Given the description of an element on the screen output the (x, y) to click on. 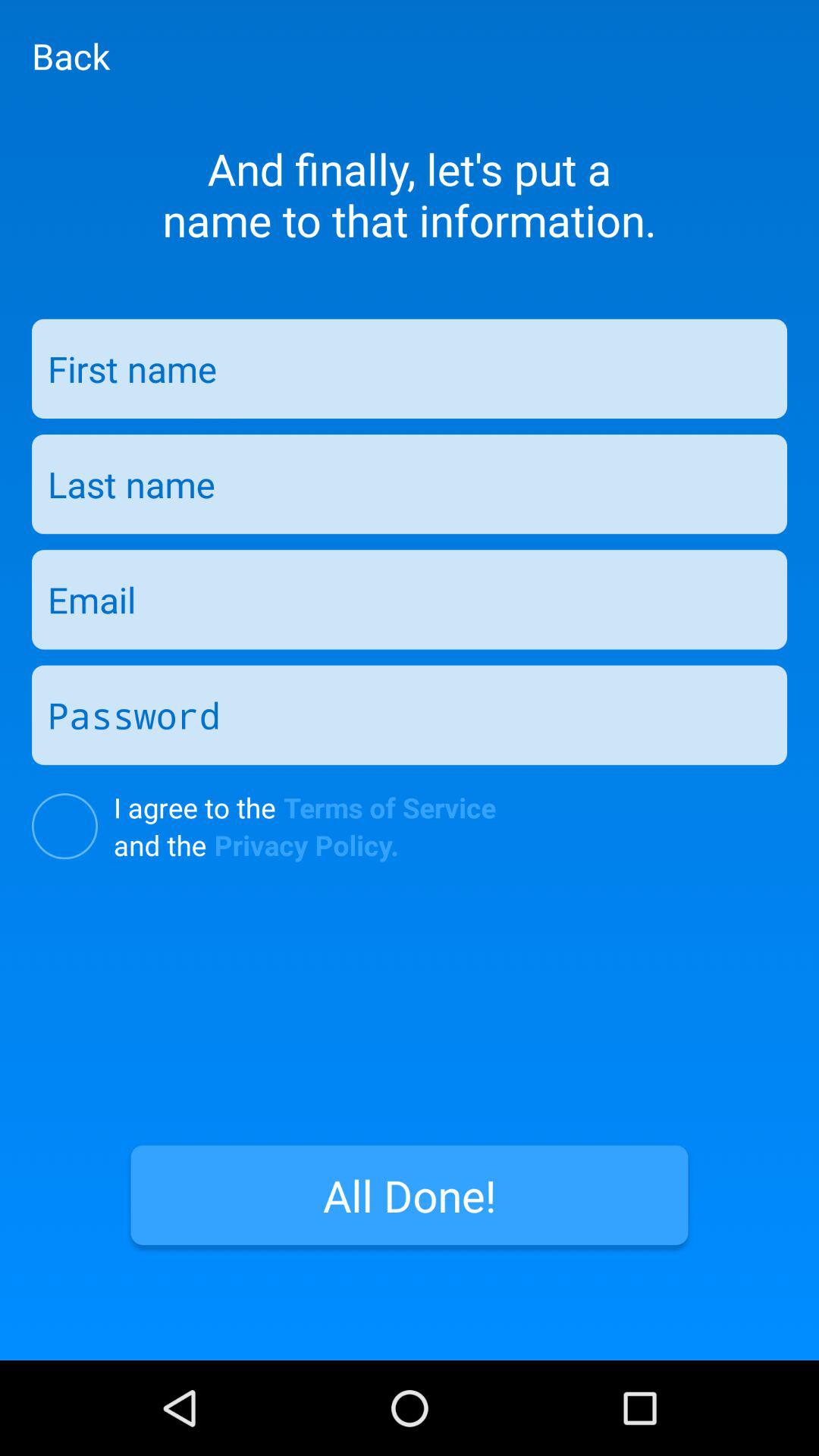
type password (409, 714)
